Given the description of an element on the screen output the (x, y) to click on. 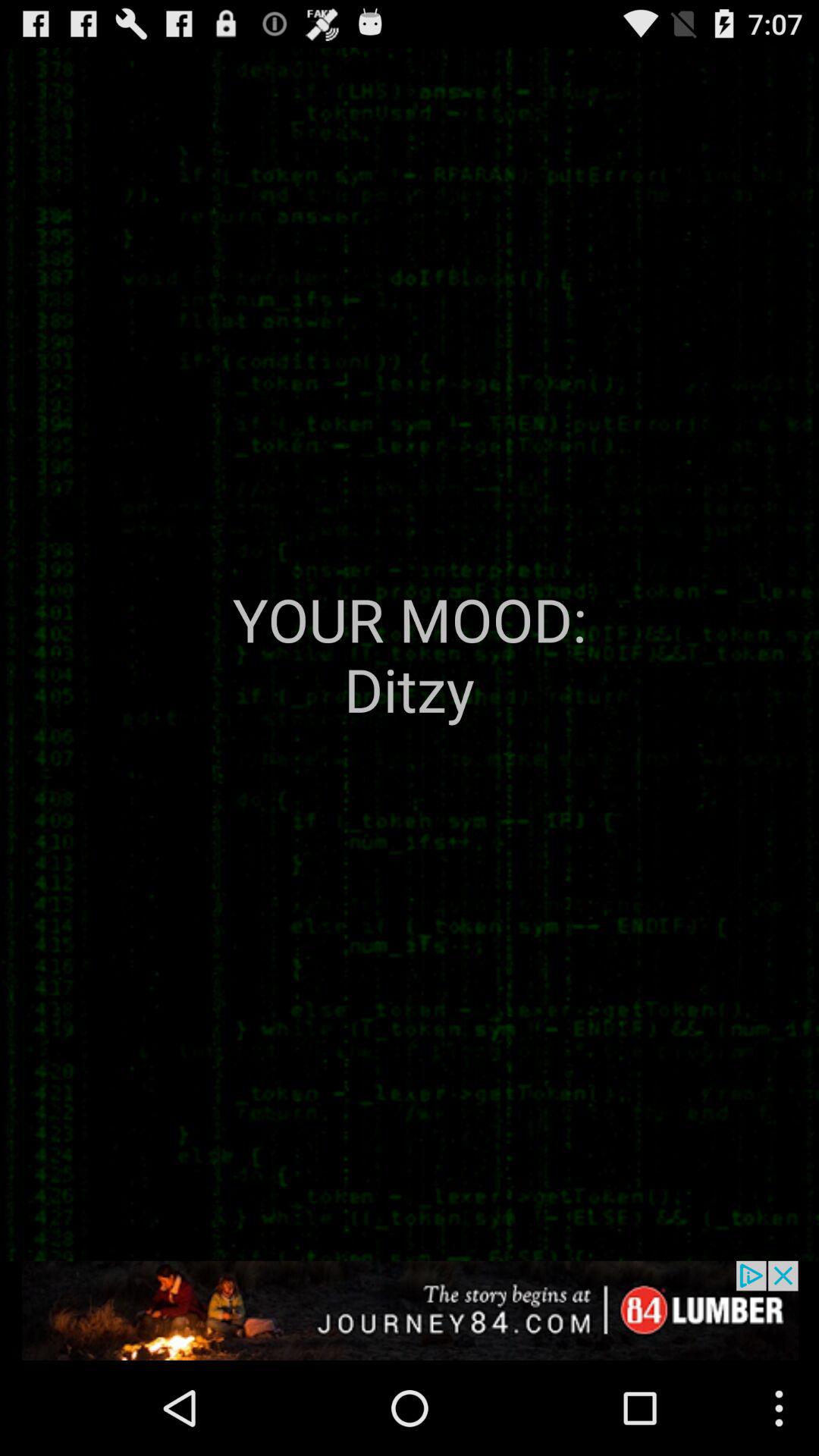
advertisement (409, 1310)
